Given the description of an element on the screen output the (x, y) to click on. 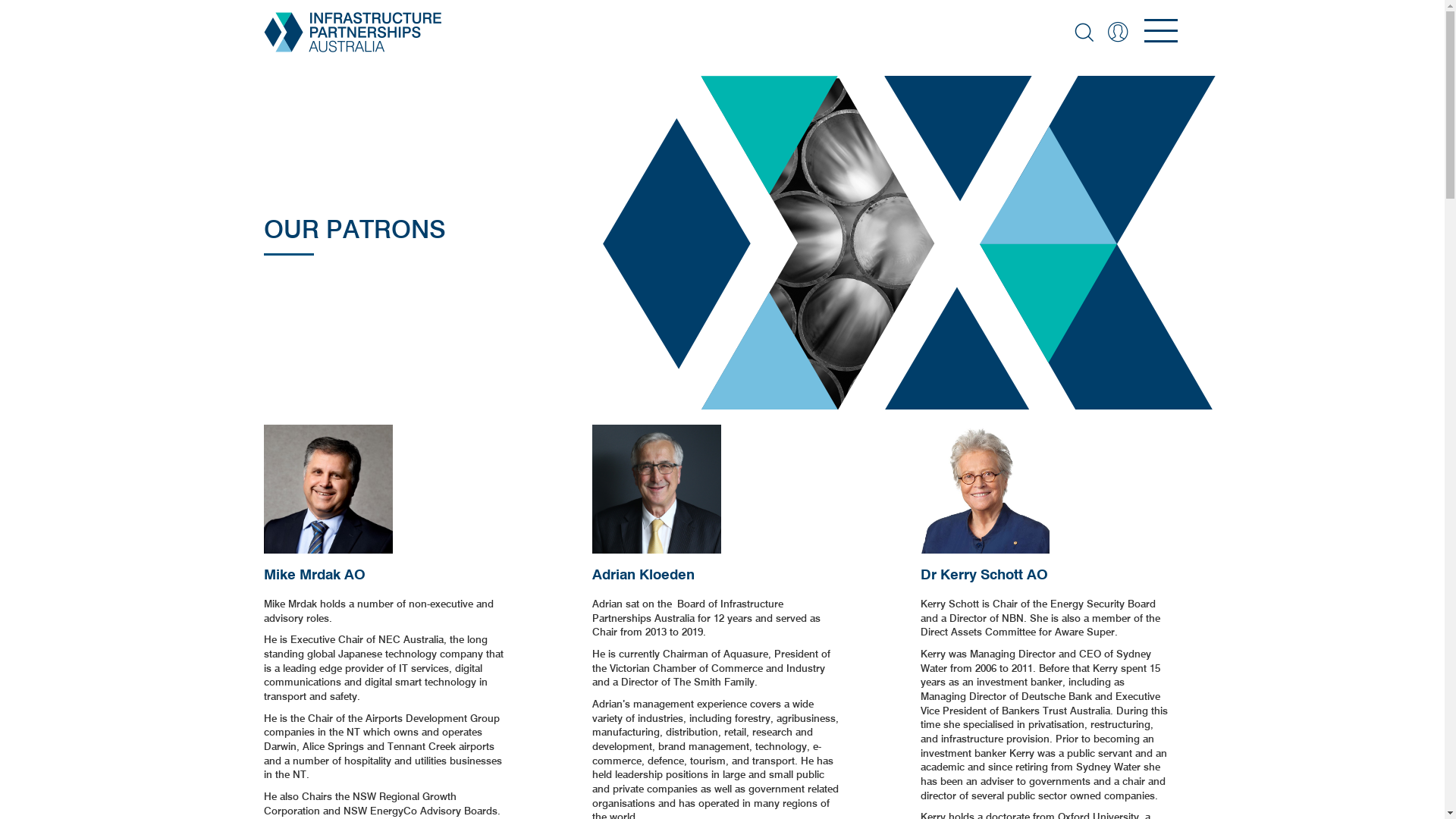
Search Element type: hover (1082, 31)
Login Element type: hover (1117, 31)
